Given the description of an element on the screen output the (x, y) to click on. 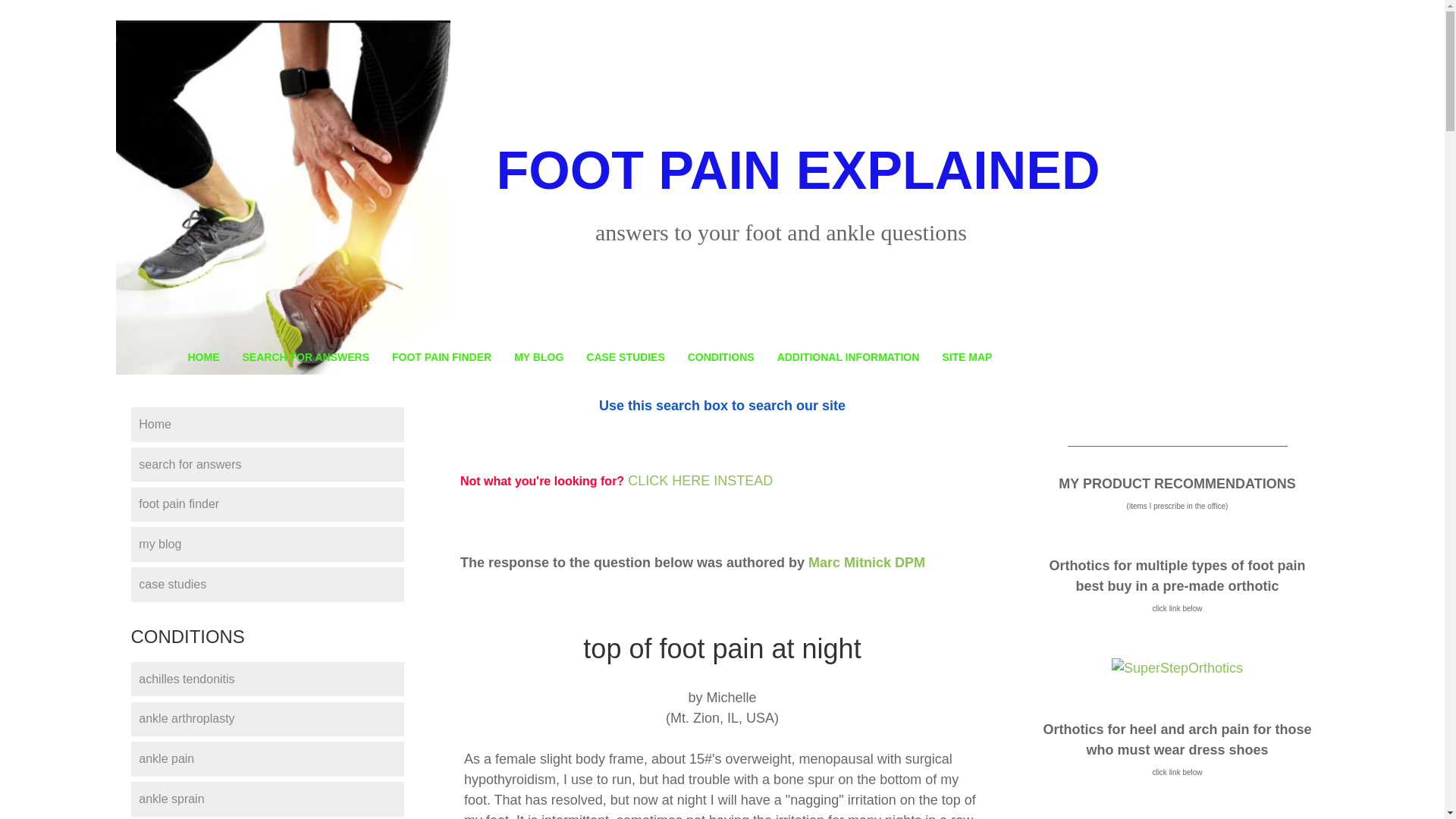
SEARCH FOR ANSWERS (305, 356)
HOME (203, 356)
MY BLOG (538, 356)
FOOT PAIN FINDER (441, 356)
CASE STUDIES (625, 356)
FOOT PAIN EXPLAINED (797, 169)
